Given the description of an element on the screen output the (x, y) to click on. 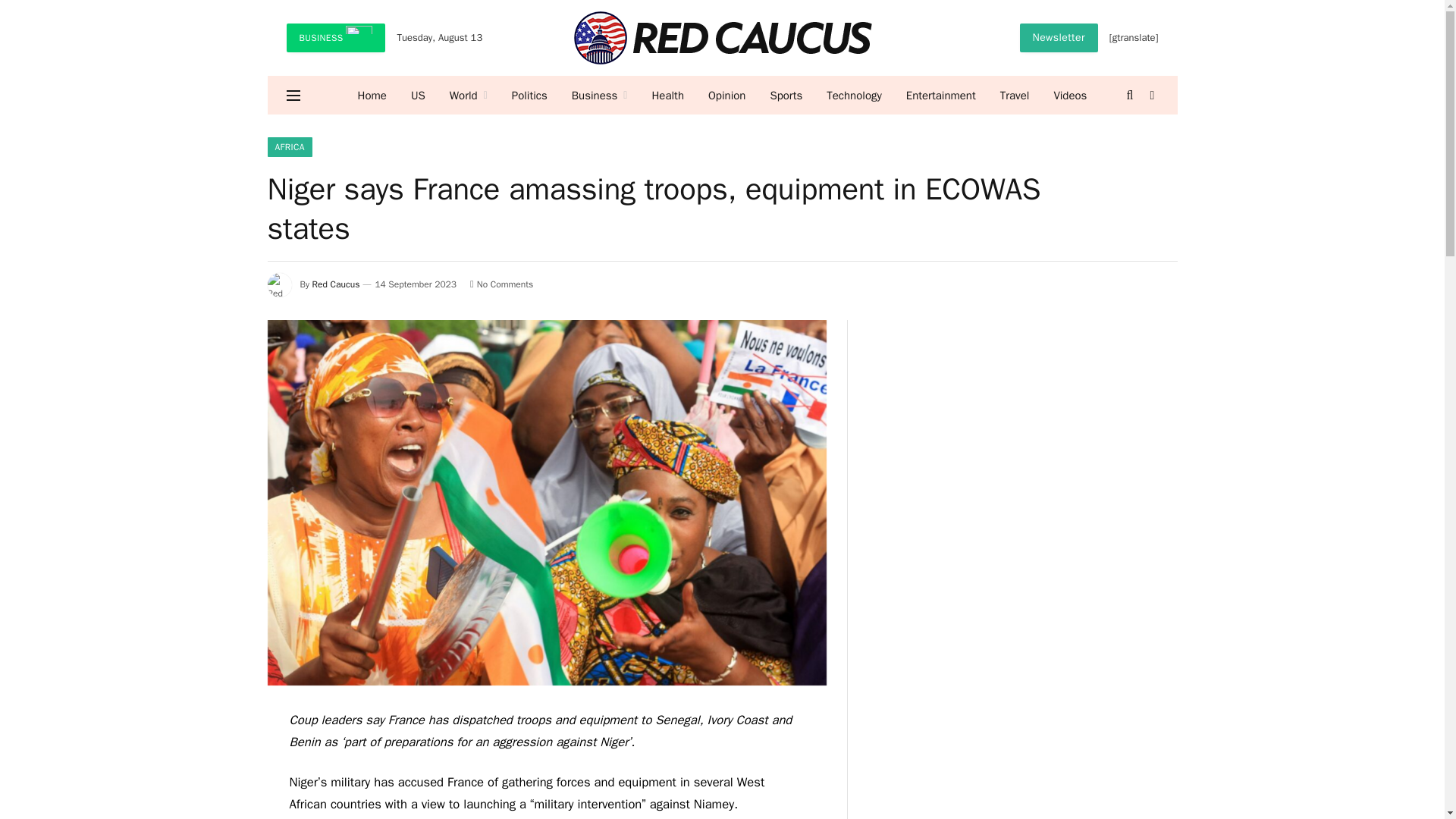
Posts by Red Caucus (336, 284)
Switch to Dark Design - easier on eyes. (1150, 95)
US (418, 95)
Politics (529, 95)
BUSINESS (335, 37)
Red Caucus (722, 38)
Home (372, 95)
World (468, 95)
Newsletter (1058, 37)
